Given the description of an element on the screen output the (x, y) to click on. 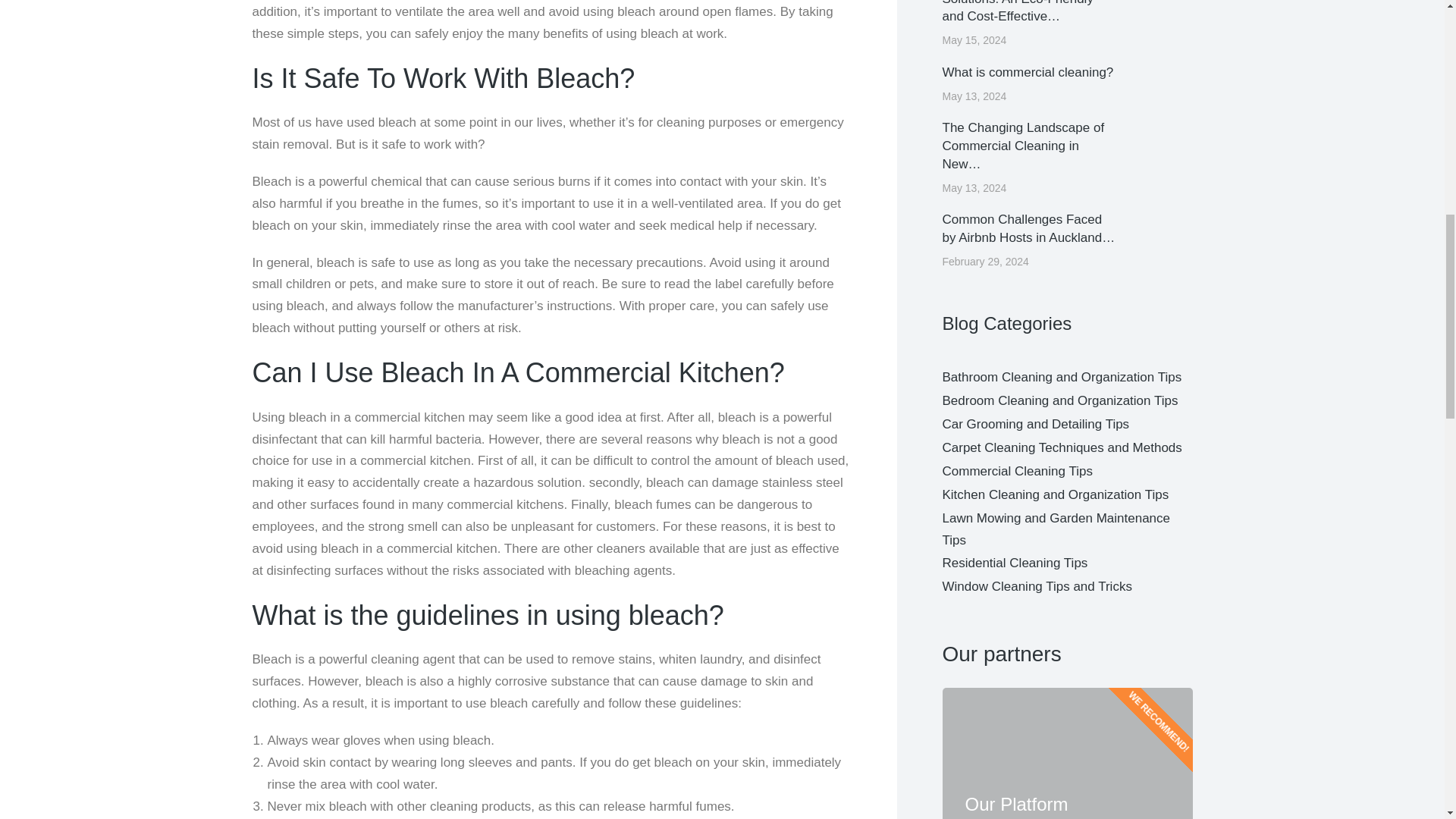
2:59 am (974, 188)
10:49 pm (974, 40)
What is commercial cleaning? (1027, 72)
9:37 pm (974, 96)
